Given the description of an element on the screen output the (x, y) to click on. 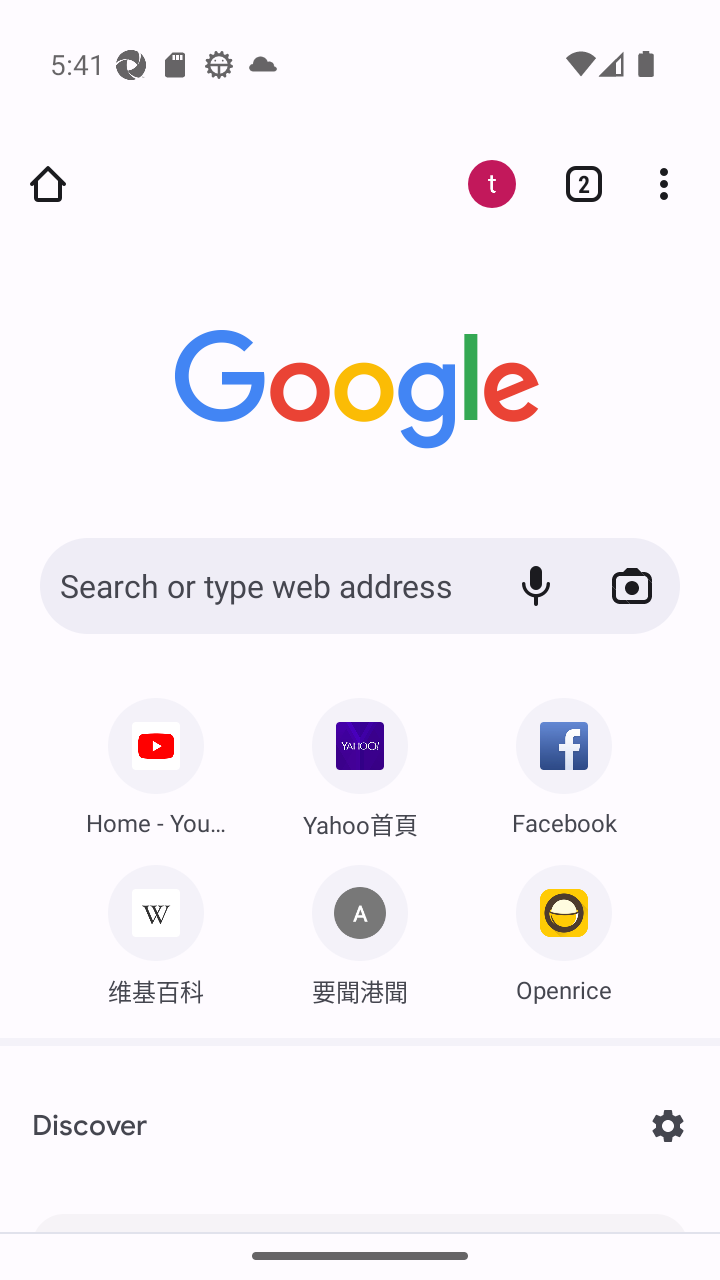
Home (47, 184)
Manage account (479, 184)
Switch or close tabs (575, 184)
More options (672, 184)
Search or type web address (261, 585)
Start voice search (535, 585)
Search with your camera using Google Lens (631, 585)
Home - YouTube (156, 760)
Yahoo首頁 (359, 761)
Facebook (563, 760)
维基百科 (156, 928)
要聞港聞 (359, 928)
Openrice (563, 928)
Options for Discover (668, 1125)
